Given the description of an element on the screen output the (x, y) to click on. 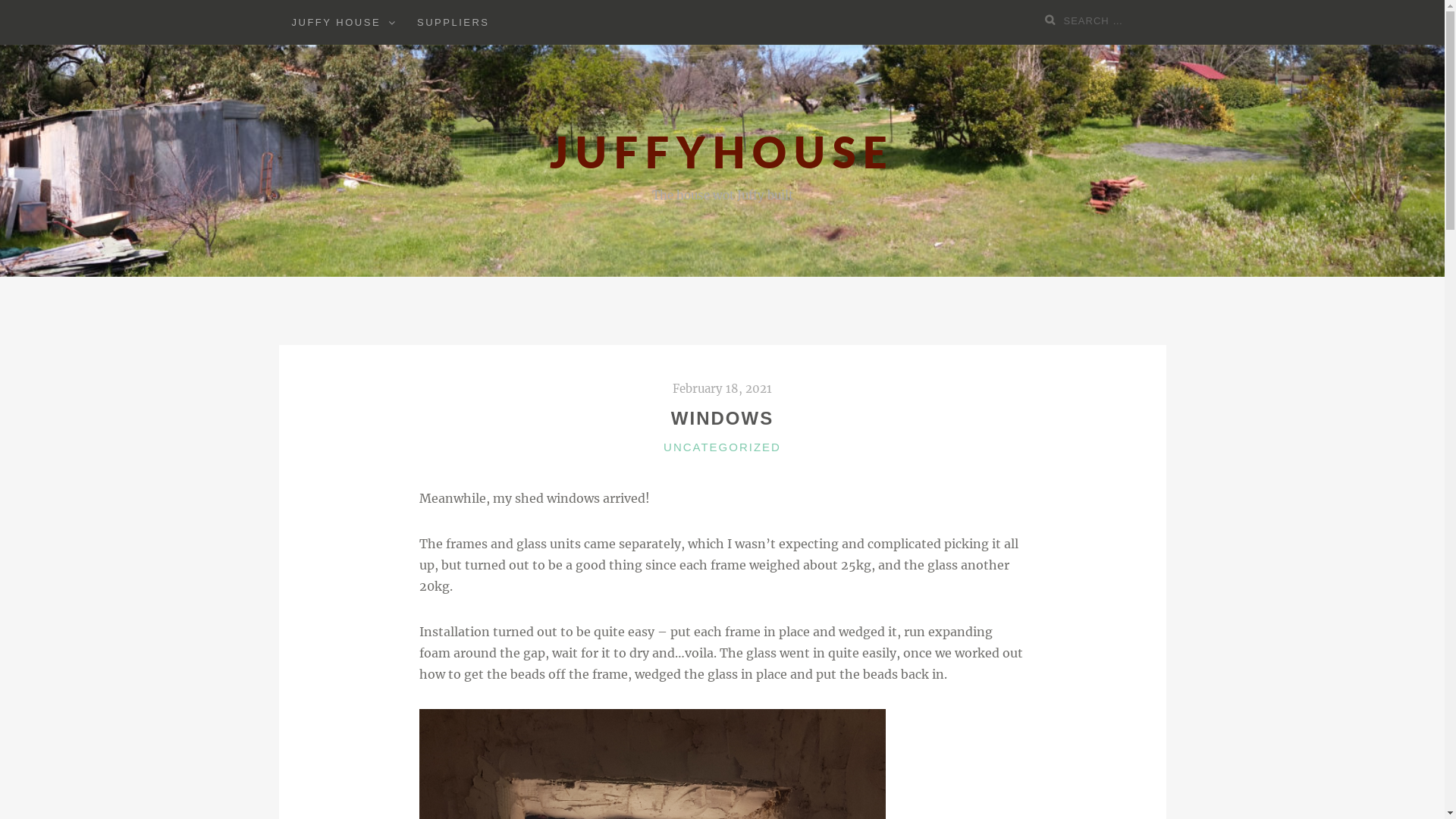
Search Element type: text (1052, 20)
EXPAND CHILD MENU Element type: text (391, 21)
UNCATEGORIZED Element type: text (722, 445)
JUFFY HOUSE Element type: text (336, 22)
JUFFYHOUSE Element type: text (721, 151)
February 18, 2021 Element type: text (721, 388)
SUPPLIERS Element type: text (453, 22)
